Given the description of an element on the screen output the (x, y) to click on. 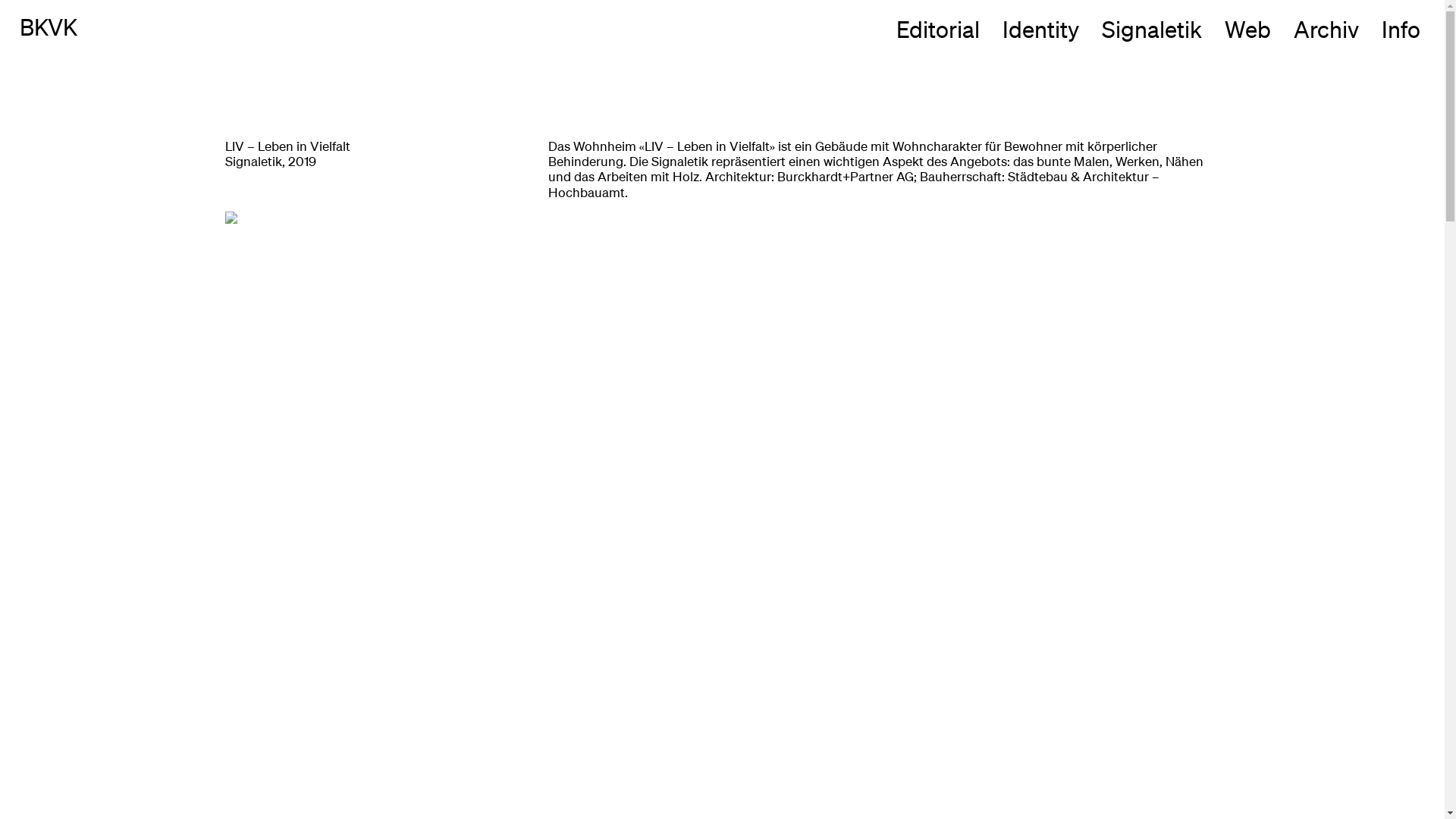
BKVK Element type: text (48, 26)
Signaletik Element type: text (1151, 28)
Web Element type: text (1247, 28)
Archiv Element type: text (1325, 28)
Info Element type: text (1400, 28)
Identity Element type: text (1040, 28)
Editorial Element type: text (937, 28)
